Given the description of an element on the screen output the (x, y) to click on. 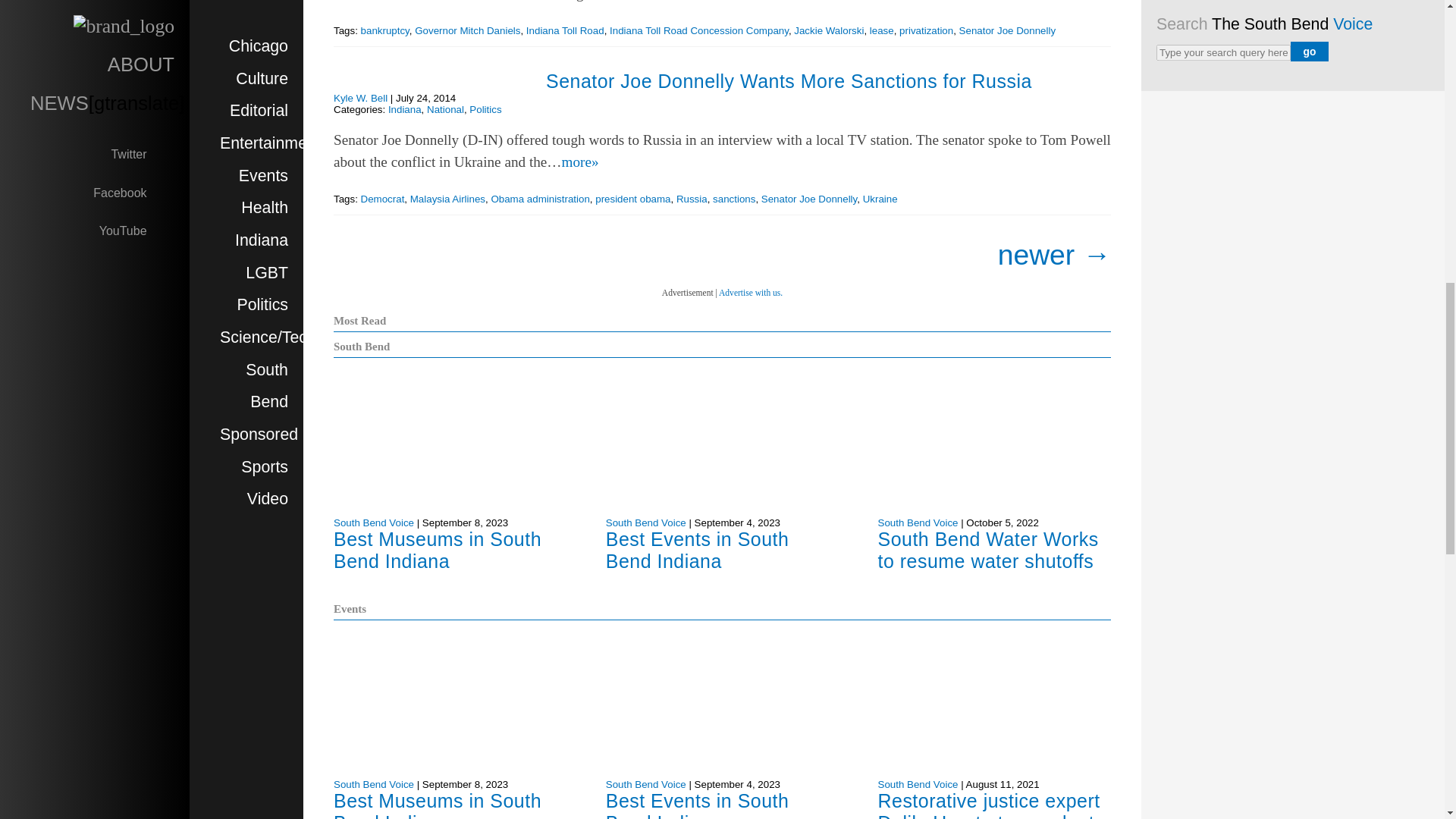
Posts by South Bend Voice (373, 784)
Posts by South Bend Voice (917, 522)
Posts by South Bend Voice (645, 784)
Posts by Kyle W. Bell (360, 98)
Posts by South Bend Voice (645, 522)
Posts by South Bend Voice (373, 522)
Posts by South Bend Voice (917, 784)
